Given the description of an element on the screen output the (x, y) to click on. 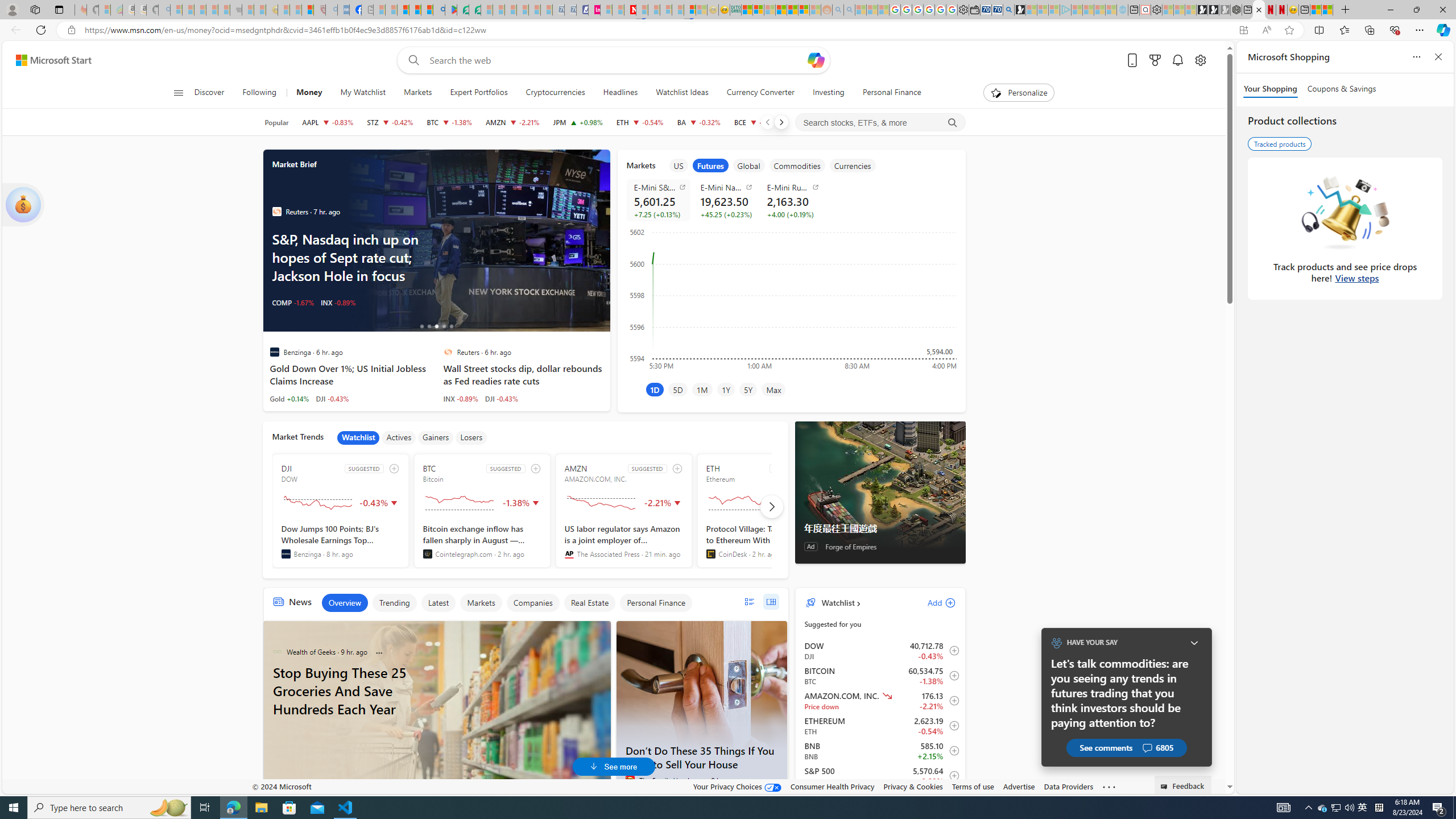
DJI -0.43% (501, 397)
Latest Politics News & Archive | Newsweek.com (629, 9)
Jobs - lastminute.com Investor Portal (594, 9)
Enter your search term (617, 59)
Class: oneFooter_seeMore-DS-EntryPoint1-1 (1108, 786)
ETH SUGGESTED Ethereum (765, 510)
